Given the description of an element on the screen output the (x, y) to click on. 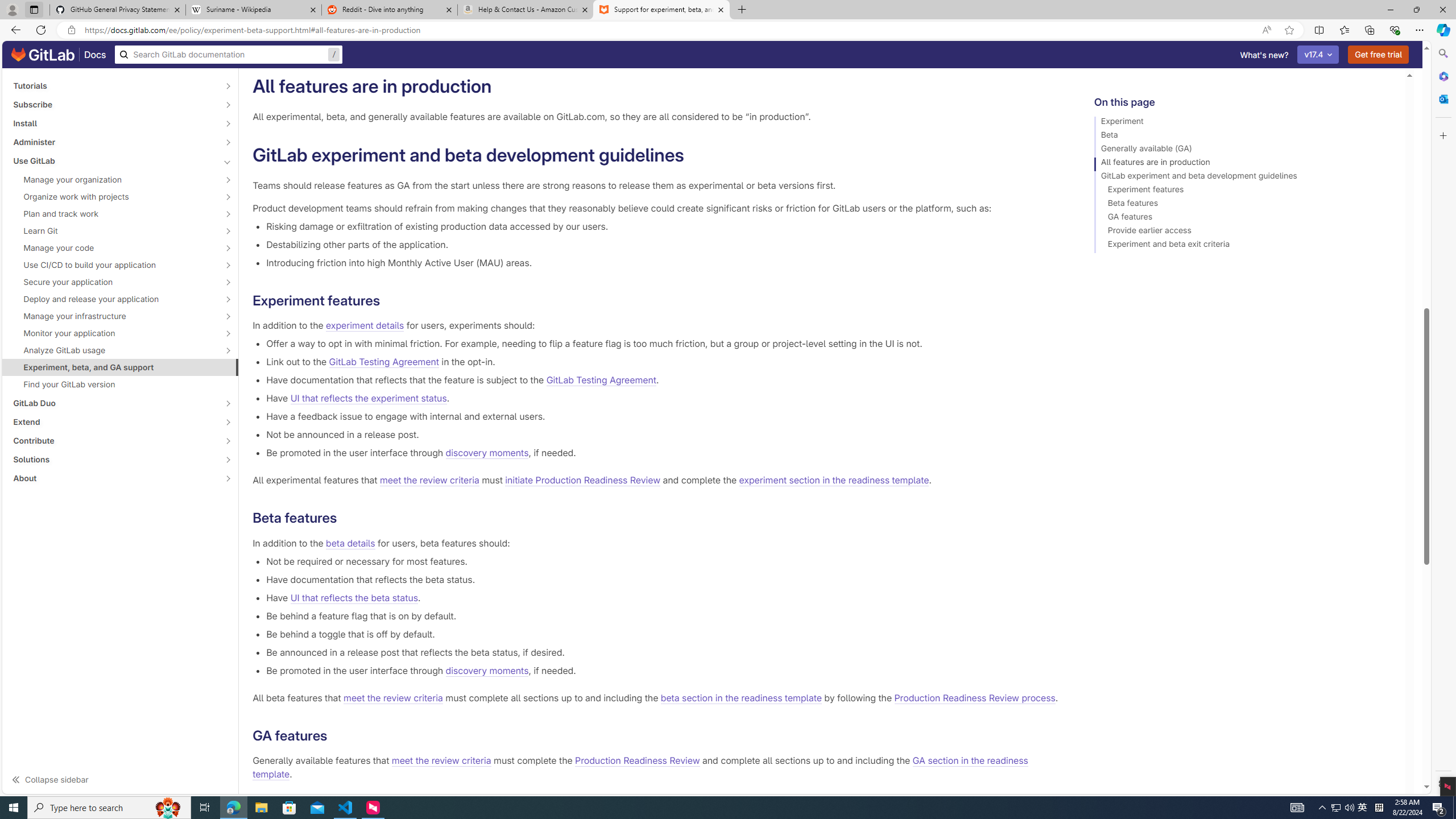
Provide earlier access (1244, 232)
Get free trial (1378, 54)
discovery moments (486, 670)
Production Readiness Review (637, 761)
GitLab documentation home (42, 54)
Administer (113, 141)
Tutorials (113, 85)
Have documentation that reflects the beta status. (662, 579)
